Given the description of an element on the screen output the (x, y) to click on. 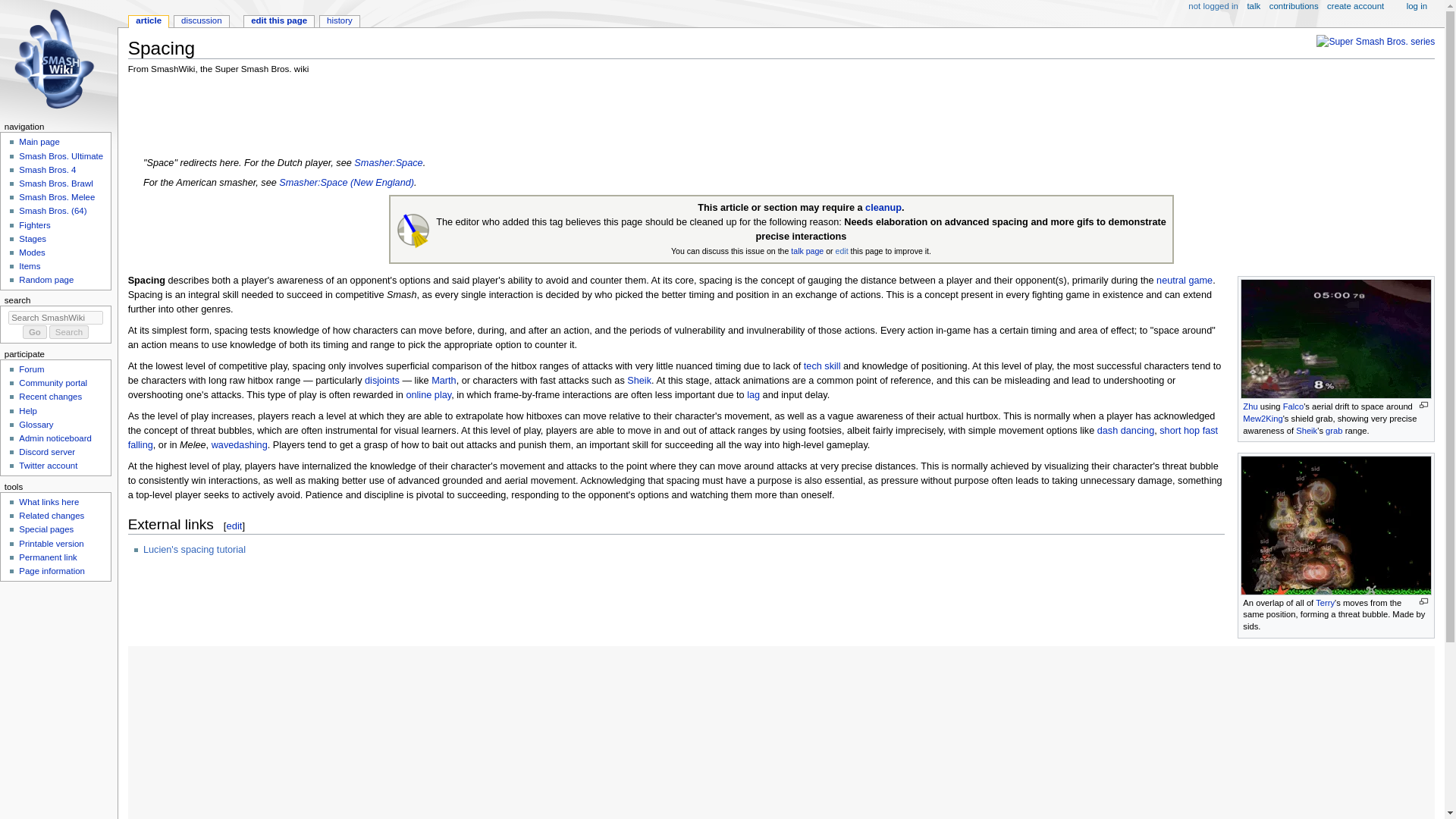
lag (753, 394)
disjoints (381, 380)
Smasher:Zhu (1250, 406)
Lucien's spacing tutorial (200, 549)
Talk:Spacing (807, 250)
Marth (442, 380)
Go (34, 332)
neutral game (1184, 280)
Smasher:Space (387, 163)
talk page (807, 250)
Terry (1325, 602)
dash dancing (1125, 430)
SmashWiki:Cleanup (882, 207)
edit (233, 525)
grab (1333, 429)
